Given the description of an element on the screen output the (x, y) to click on. 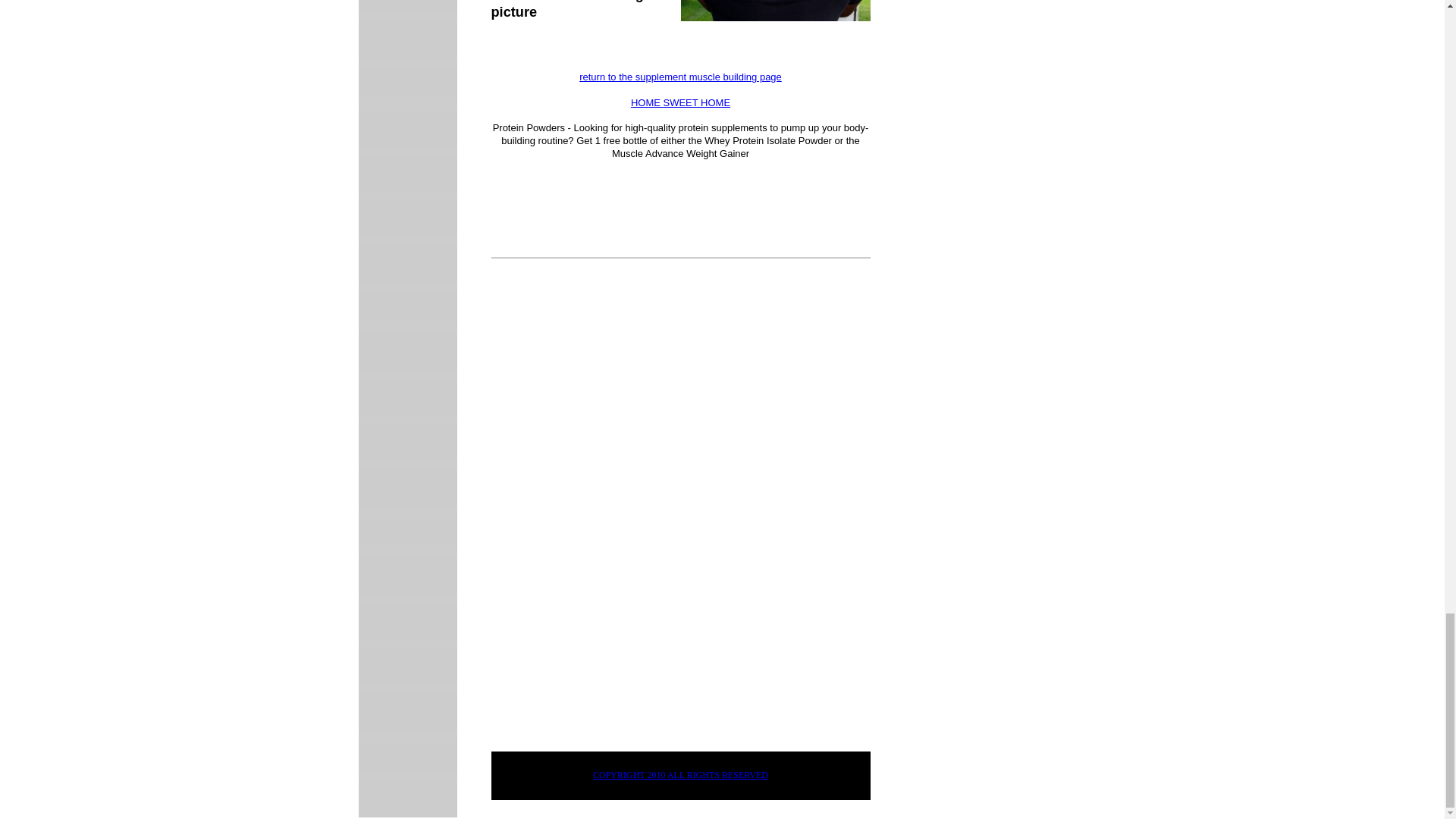
return to the supplement muscle building page (680, 76)
HOME SWEET HOME (680, 102)
Advertisement (618, 622)
COPYRIGHT 2010 ALL RIGHTS RESERVED (680, 774)
